Given the description of an element on the screen output the (x, y) to click on. 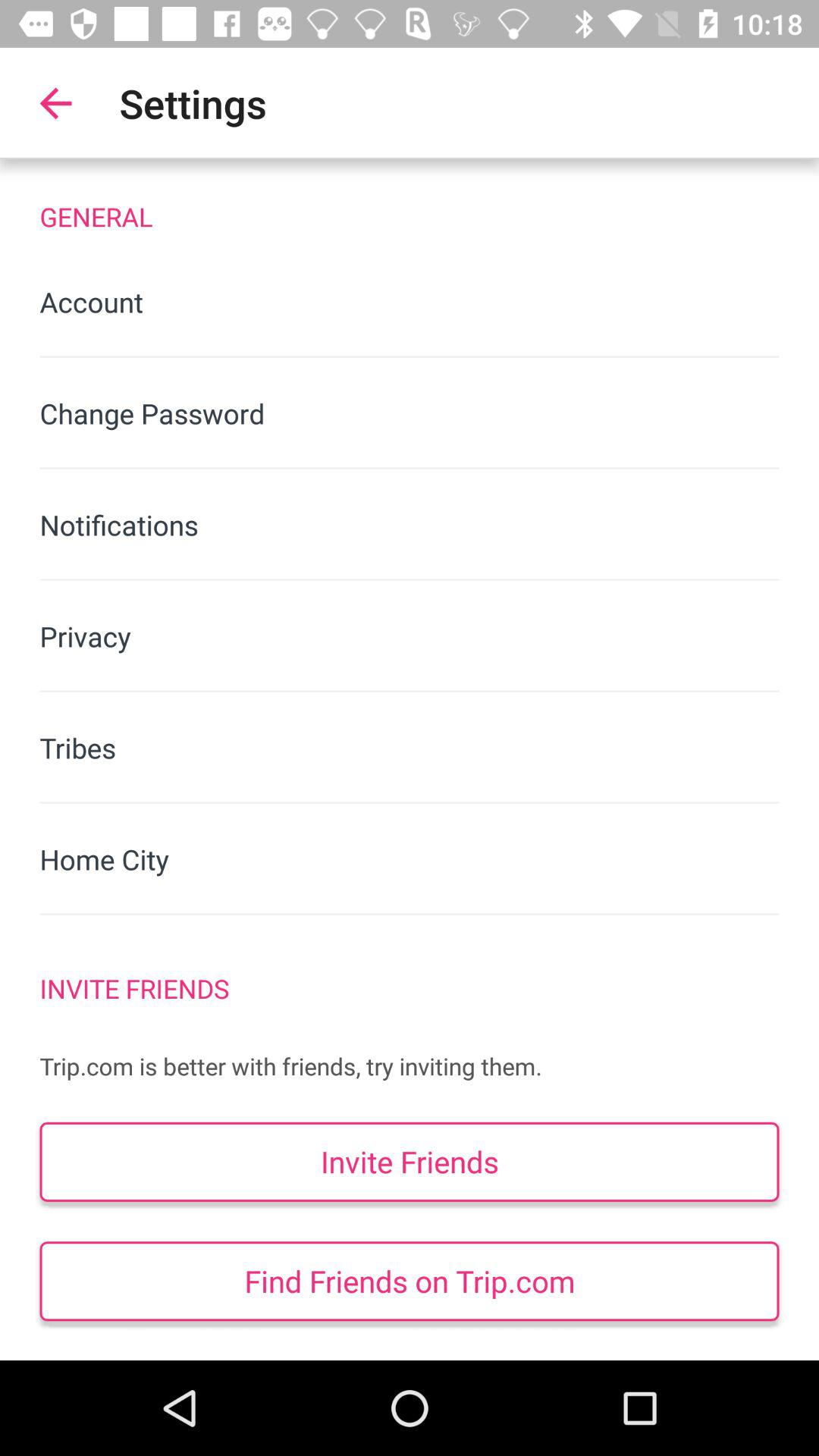
press icon above the notifications icon (409, 413)
